Given the description of an element on the screen output the (x, y) to click on. 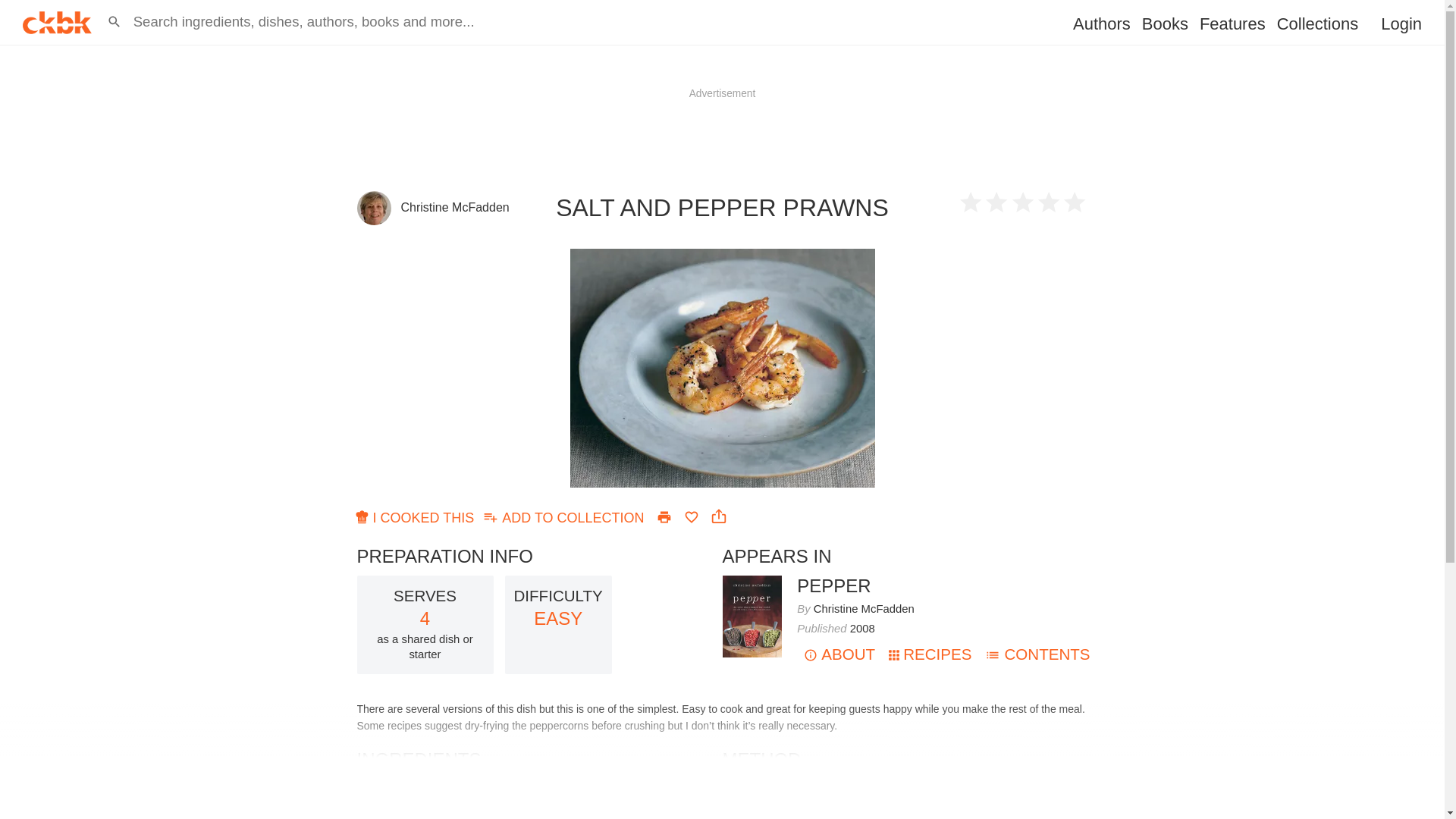
Books (1164, 24)
Features (1232, 24)
Collections (1317, 24)
Login (1401, 23)
Show table of contents (1037, 653)
About this book (751, 582)
ABOUT (839, 653)
About this book (833, 585)
search (16, 7)
Christine McFadden (863, 608)
About this book (839, 653)
PEPPER (833, 585)
I COOKED THIS (415, 516)
Recipes in this book (930, 653)
Christine McFadden (454, 206)
